Given the description of an element on the screen output the (x, y) to click on. 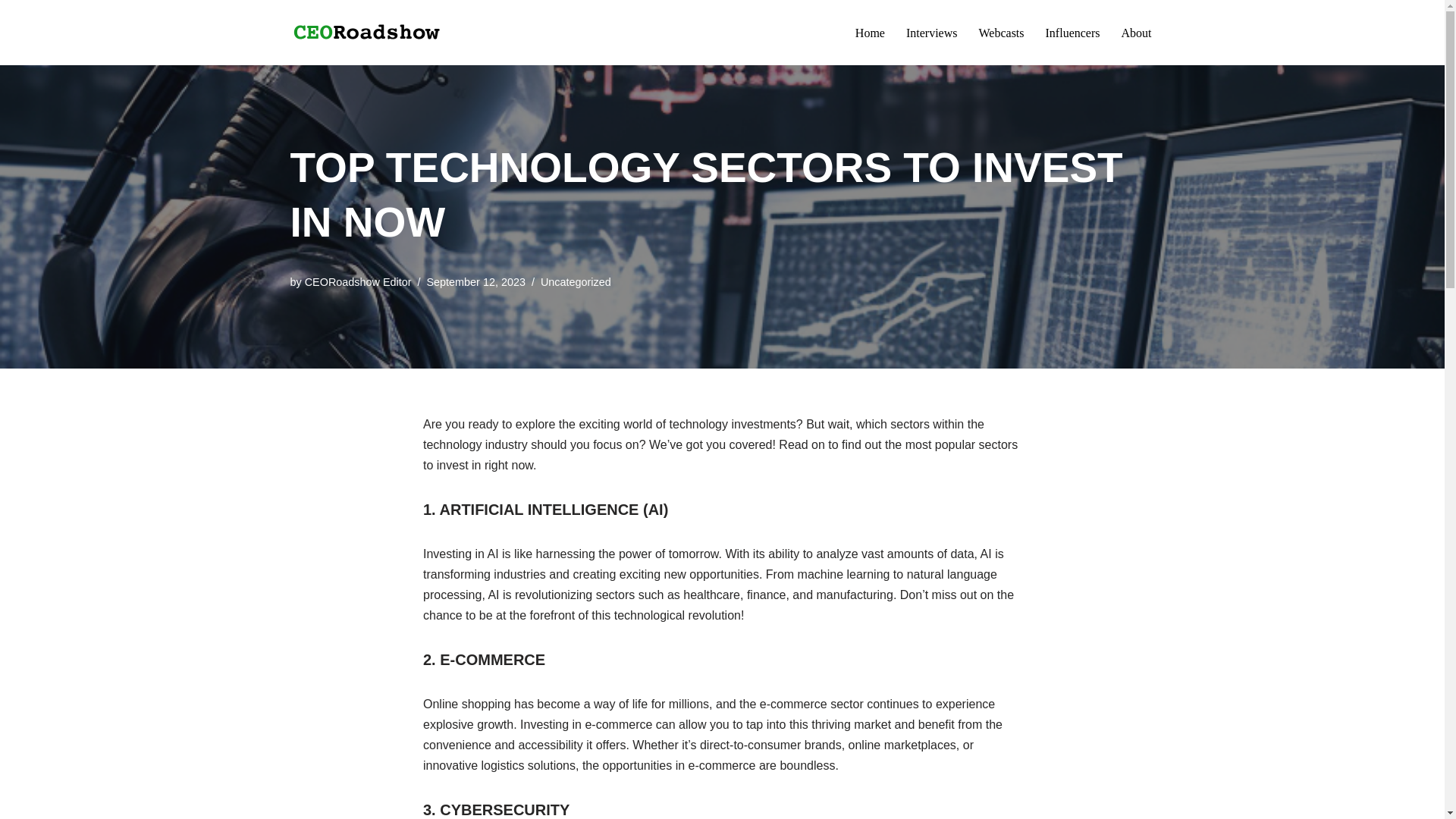
Influencers (1072, 32)
Uncategorized (575, 282)
Webcasts (1000, 32)
Skip to content (11, 31)
Posts by CEORoadshow Editor (358, 282)
About (1136, 32)
Interviews (931, 32)
CEORoadshow Editor (358, 282)
Home (870, 32)
